Given the description of an element on the screen output the (x, y) to click on. 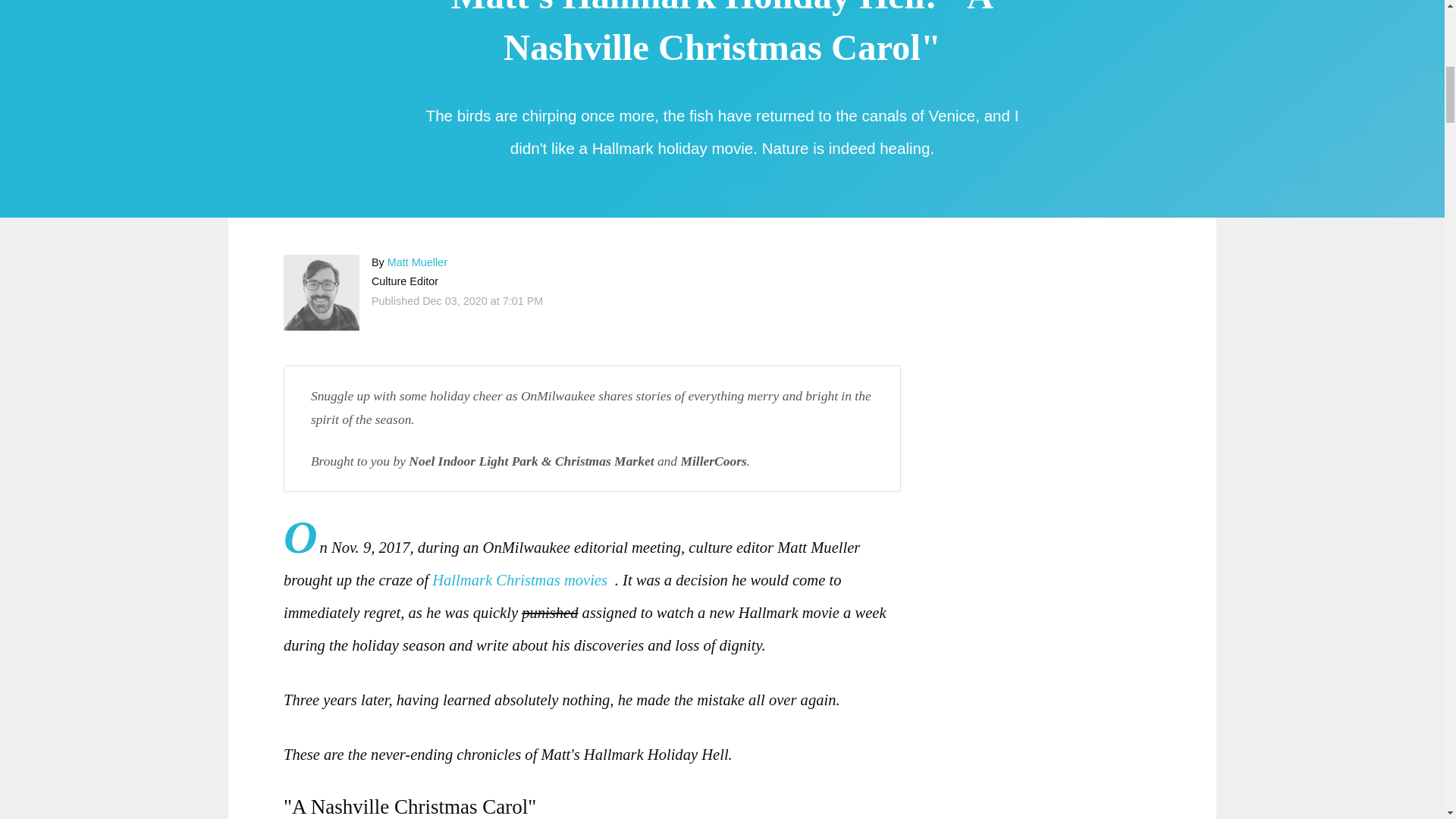
More articles by Matt Mueller (416, 262)
Hallmark Christmas movies (523, 579)
Matt Mueller (416, 262)
MillerCoors (712, 460)
Matt Mueller (321, 292)
